Given the description of an element on the screen output the (x, y) to click on. 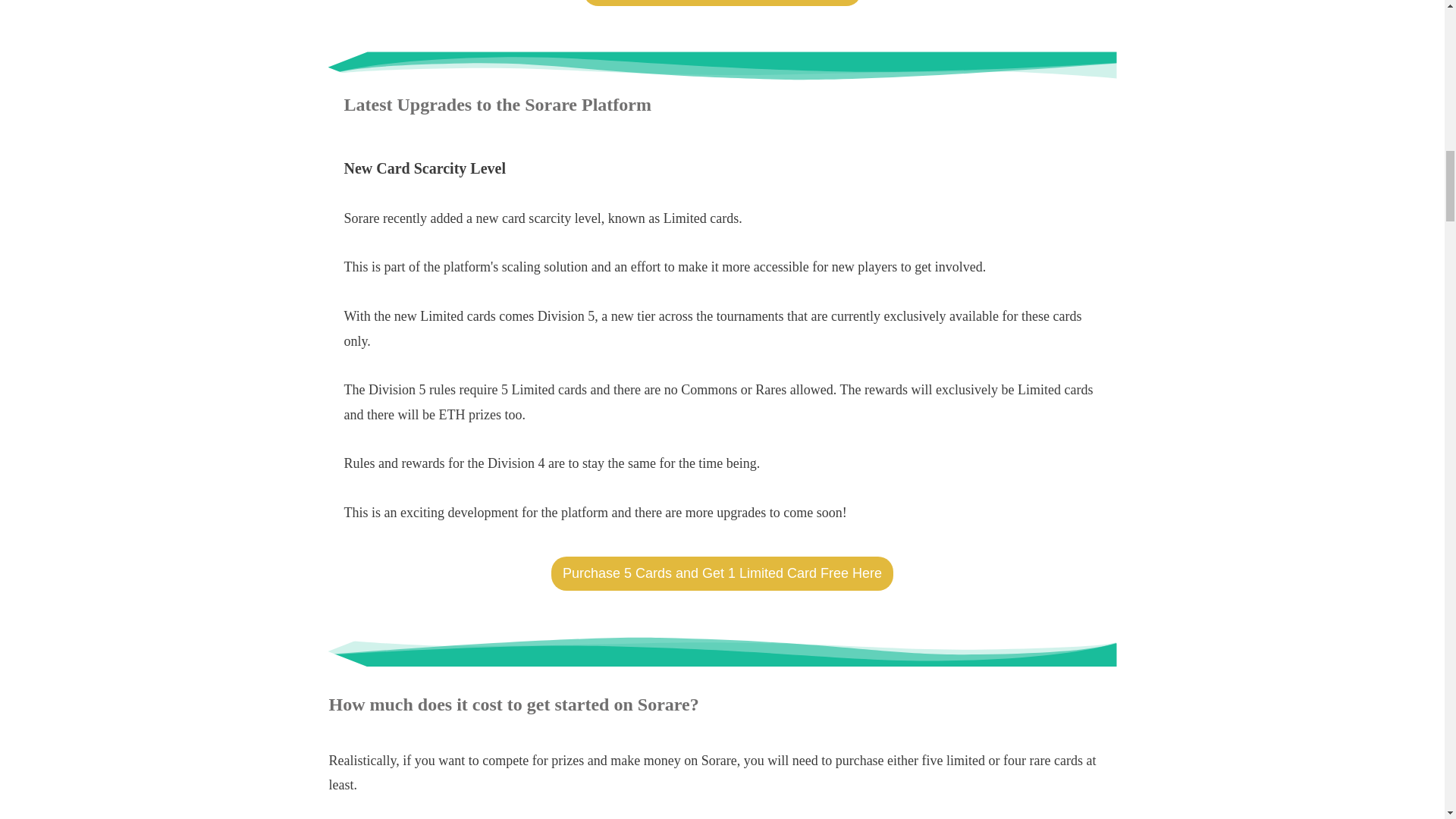
Click Here to Open a Free Sorare Account (722, 3)
Purchase 5 Cards and Get 1 Limited Card Free Here (722, 573)
